Given the description of an element on the screen output the (x, y) to click on. 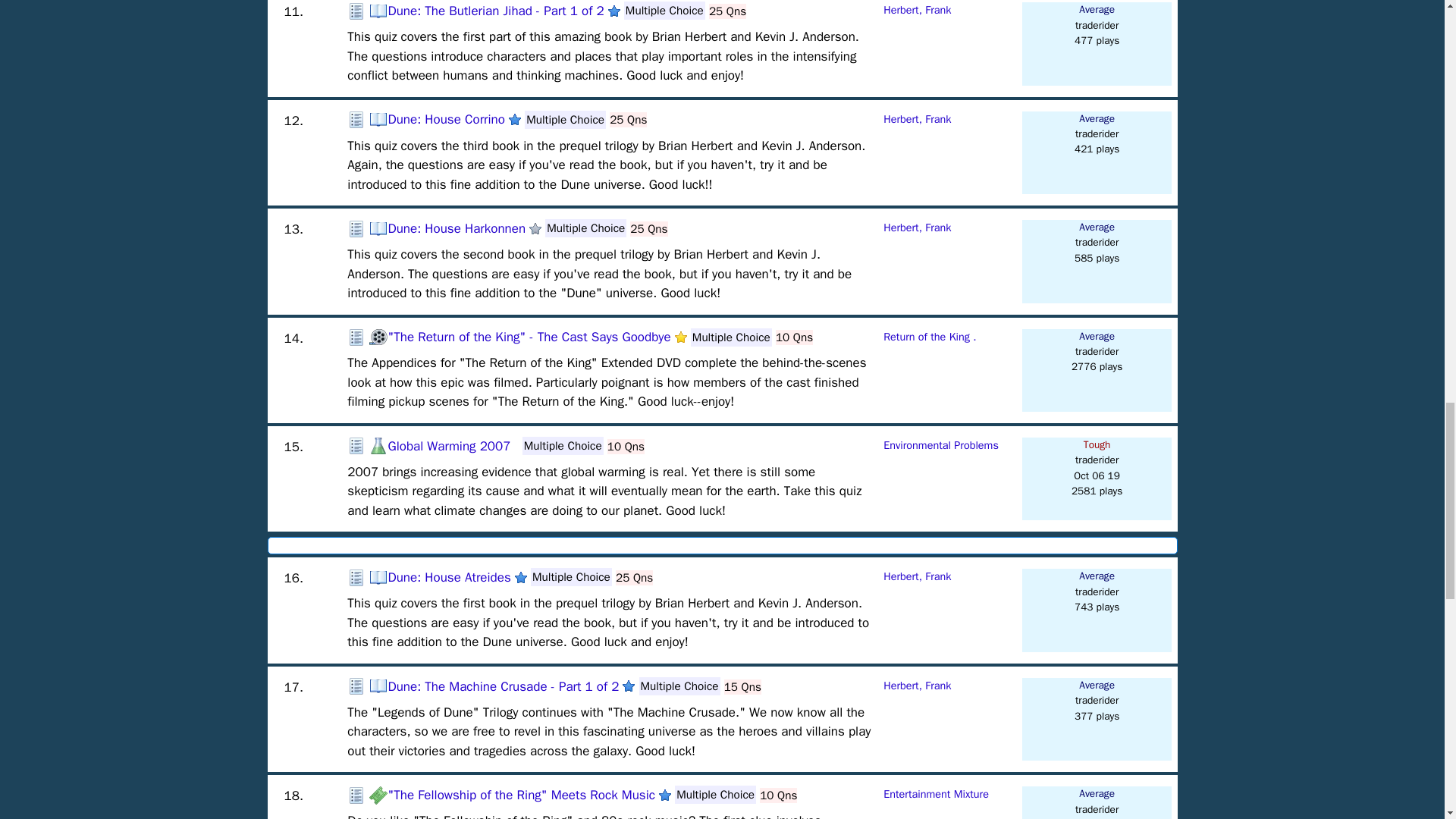
A well rated quiz (521, 577)
A well rated quiz (665, 795)
A well rated quiz (514, 119)
A well rated quiz (614, 10)
A well rated quiz (628, 686)
